Given the description of an element on the screen output the (x, y) to click on. 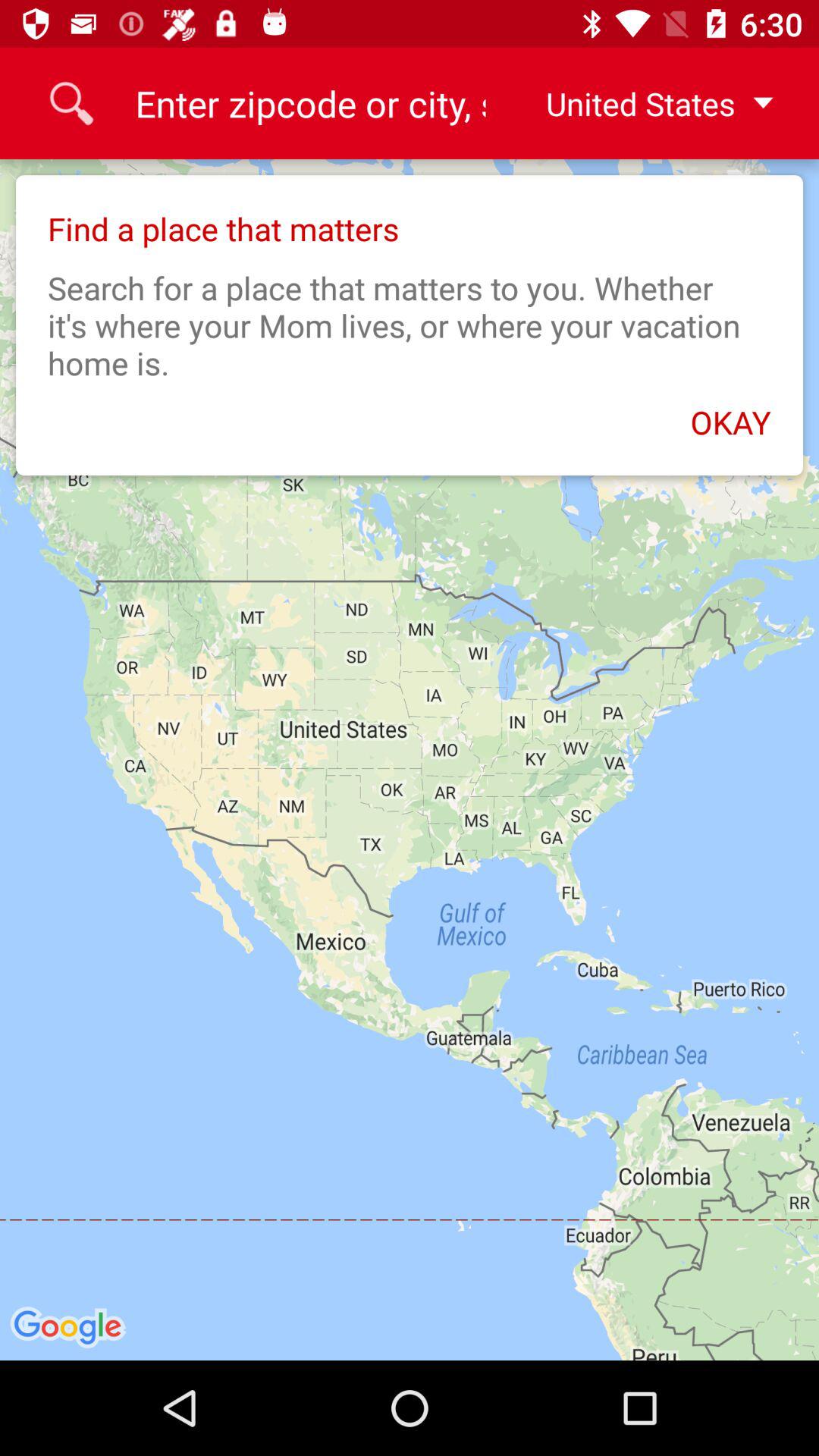
tap item next to the 9 item (647, 103)
